Given the description of an element on the screen output the (x, y) to click on. 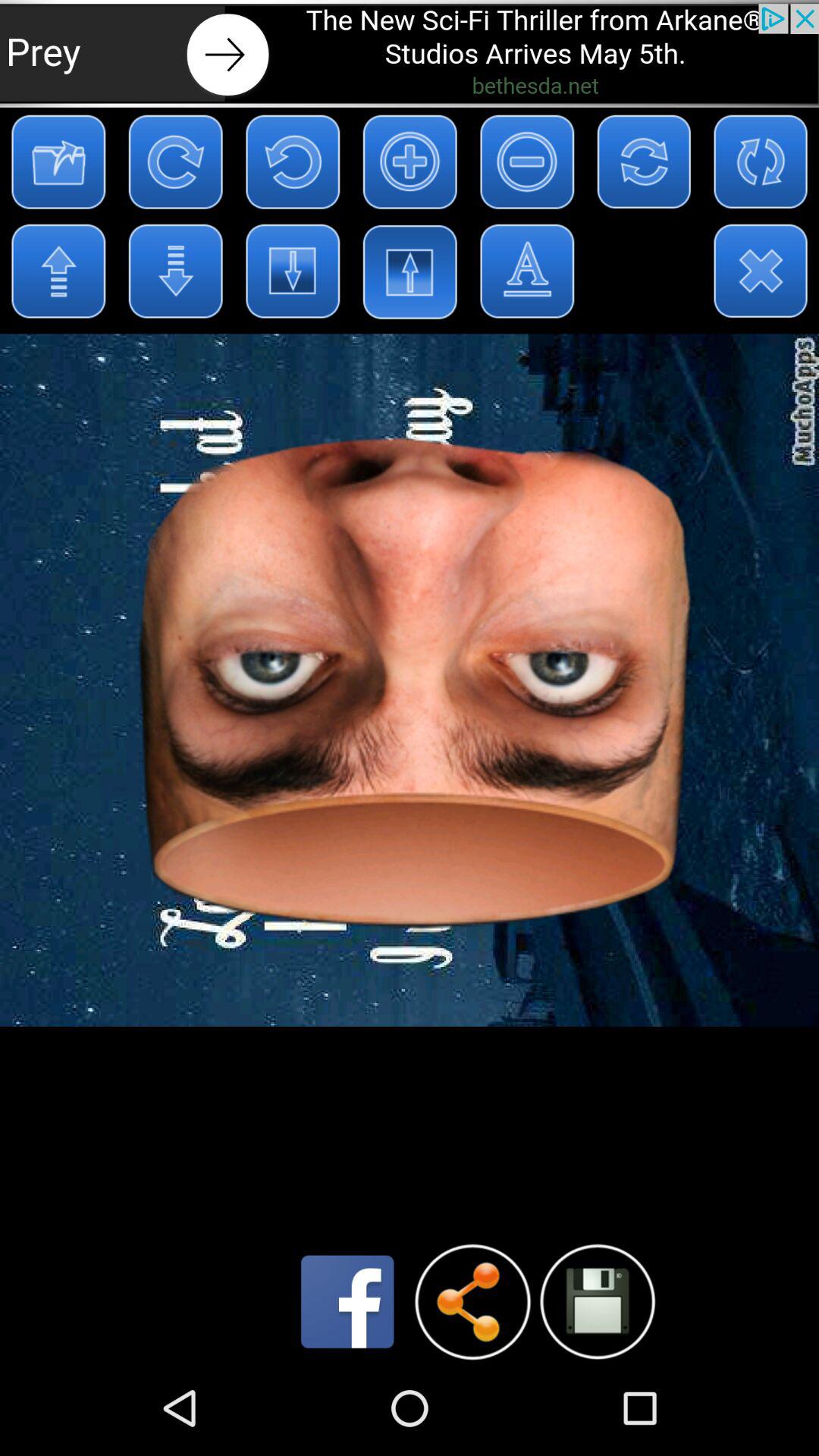
save file (597, 1301)
